Given the description of an element on the screen output the (x, y) to click on. 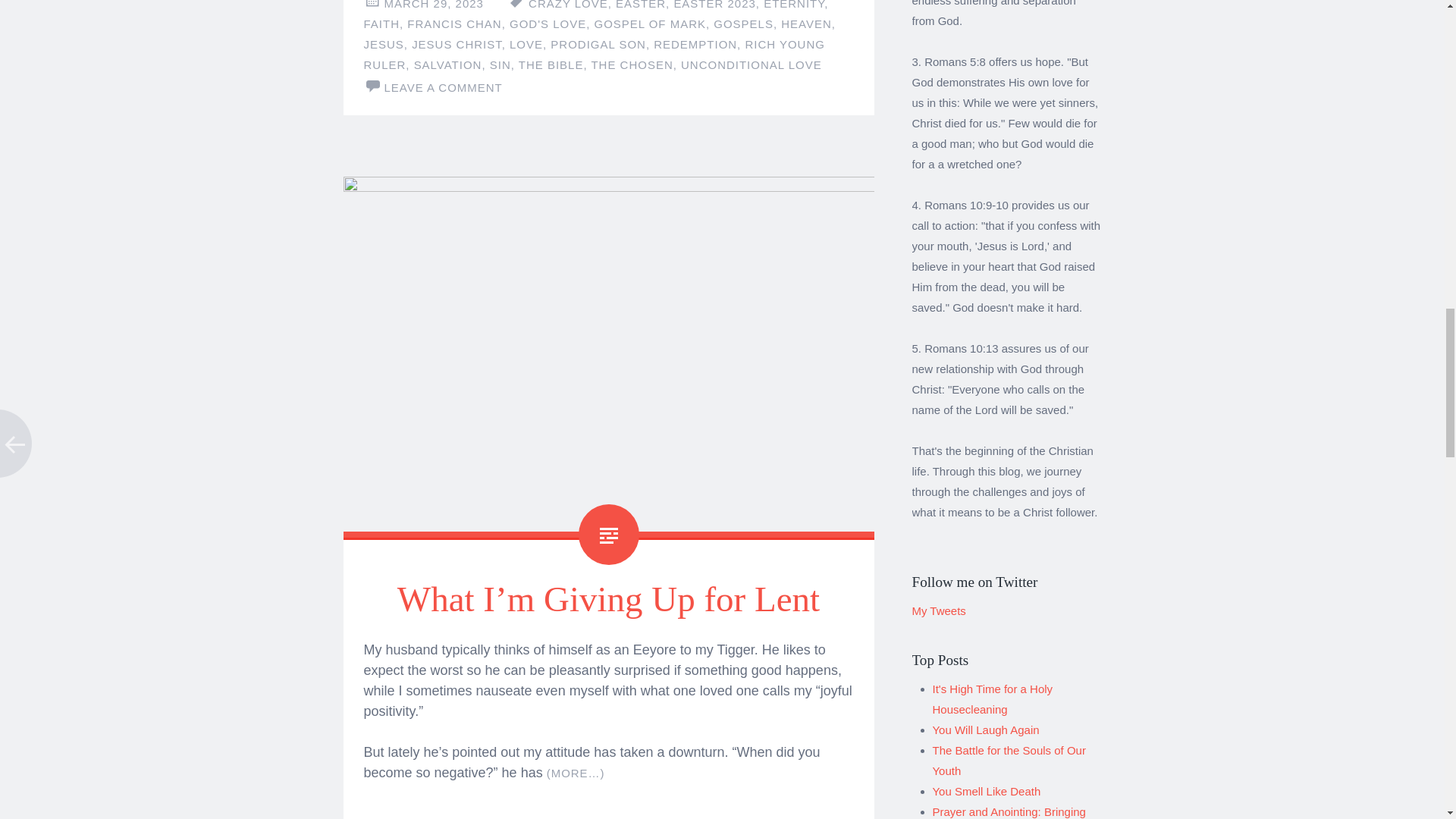
CRAZY LOVE (568, 4)
FRANCIS CHAN (453, 23)
ETERNITY (793, 4)
FAITH (381, 23)
2:51 pm (433, 4)
EASTER (640, 4)
EASTER 2023 (713, 4)
MARCH 29, 2023 (433, 4)
